Given the description of an element on the screen output the (x, y) to click on. 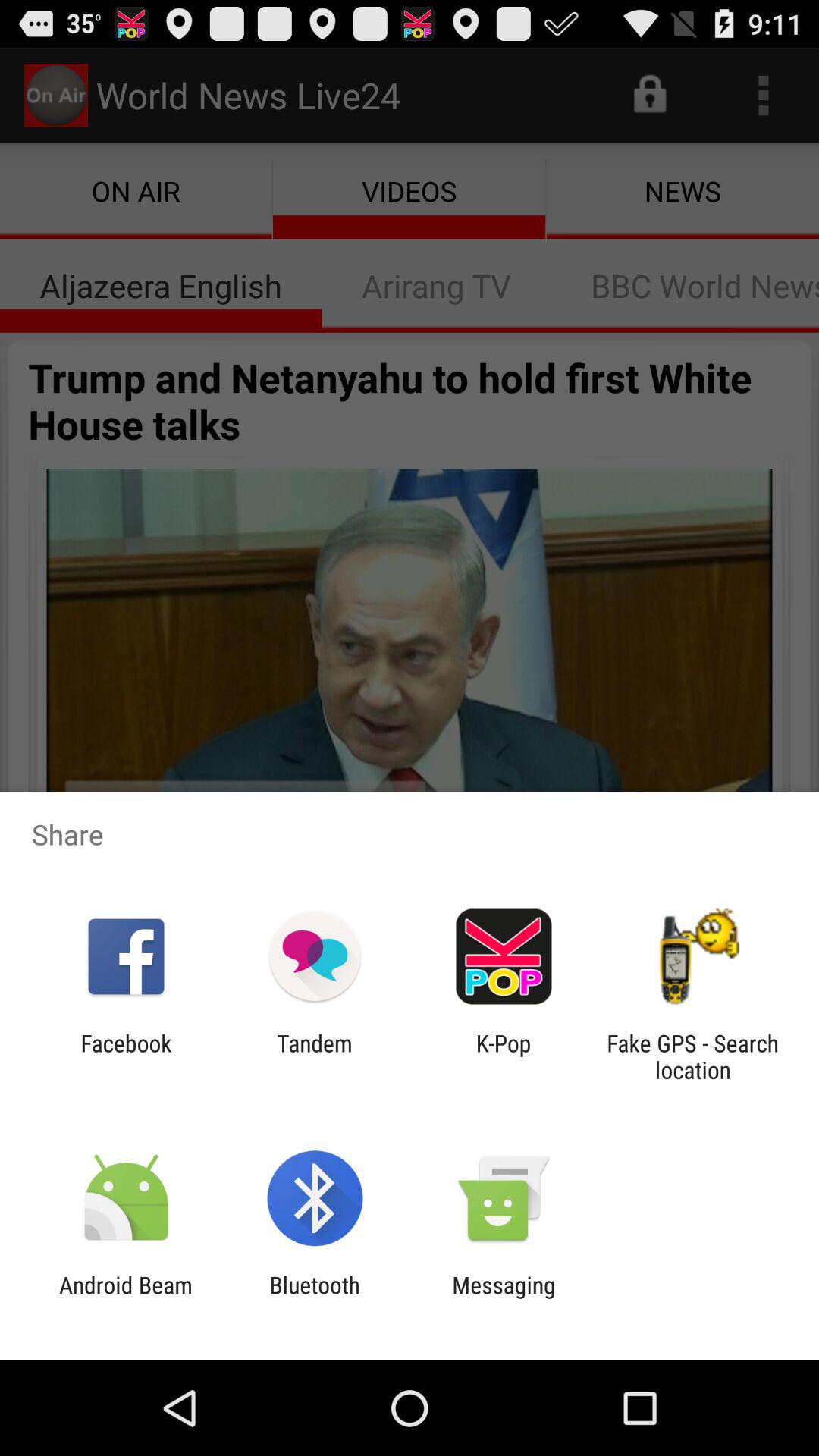
select icon to the left of the messaging icon (314, 1298)
